Given the description of an element on the screen output the (x, y) to click on. 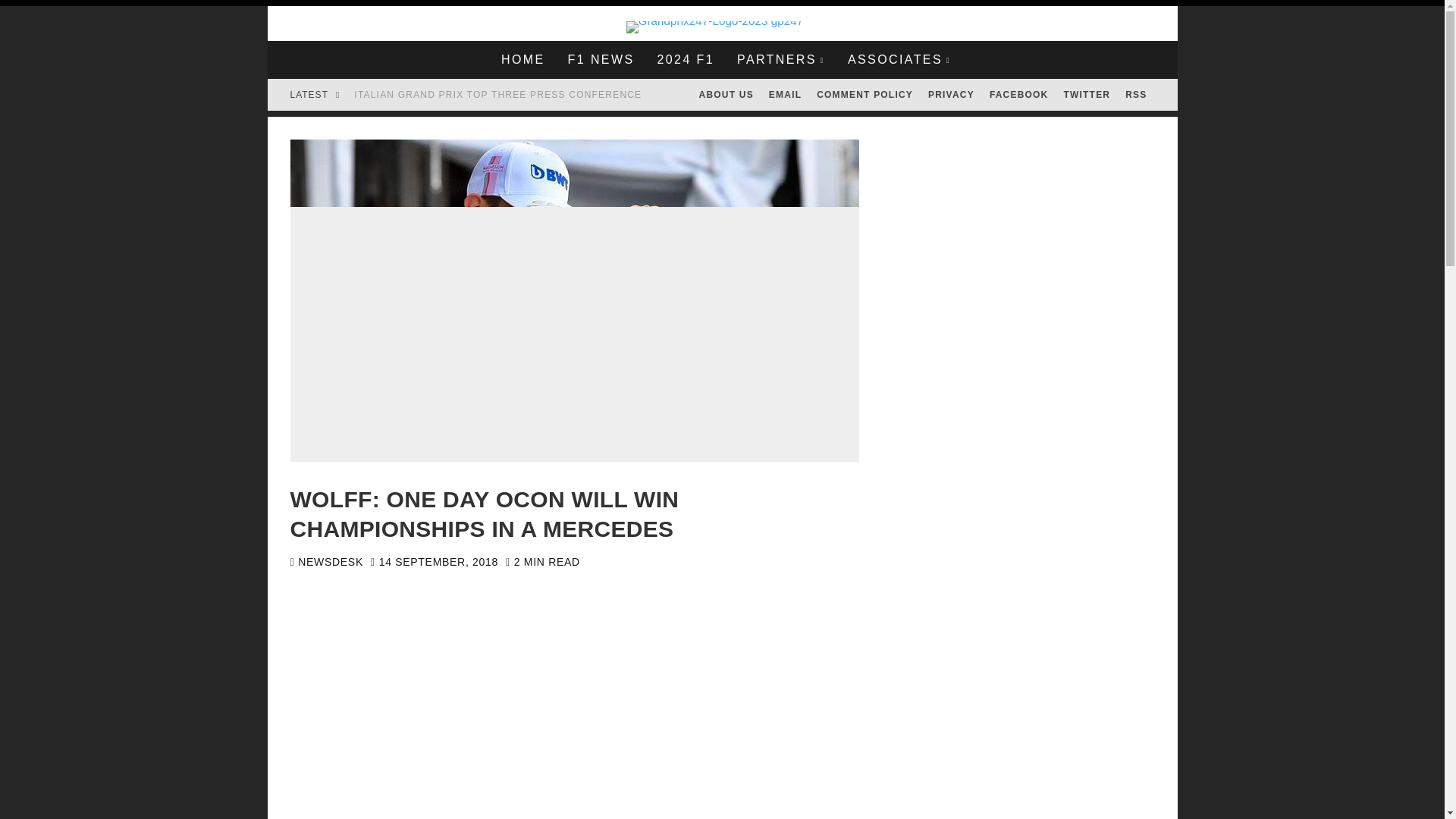
PRIVACY (950, 94)
ASSOCIATES (898, 59)
F1 NEWS (601, 59)
PARTNERS (780, 59)
COMMENT POLICY (864, 94)
RSS (1136, 94)
HOME (522, 59)
Italian Grand Prix Top Three Press Conference (497, 94)
ABOUT US (726, 94)
ITALIAN GRAND PRIX TOP THREE PRESS CONFERENCE (497, 94)
